Given the description of an element on the screen output the (x, y) to click on. 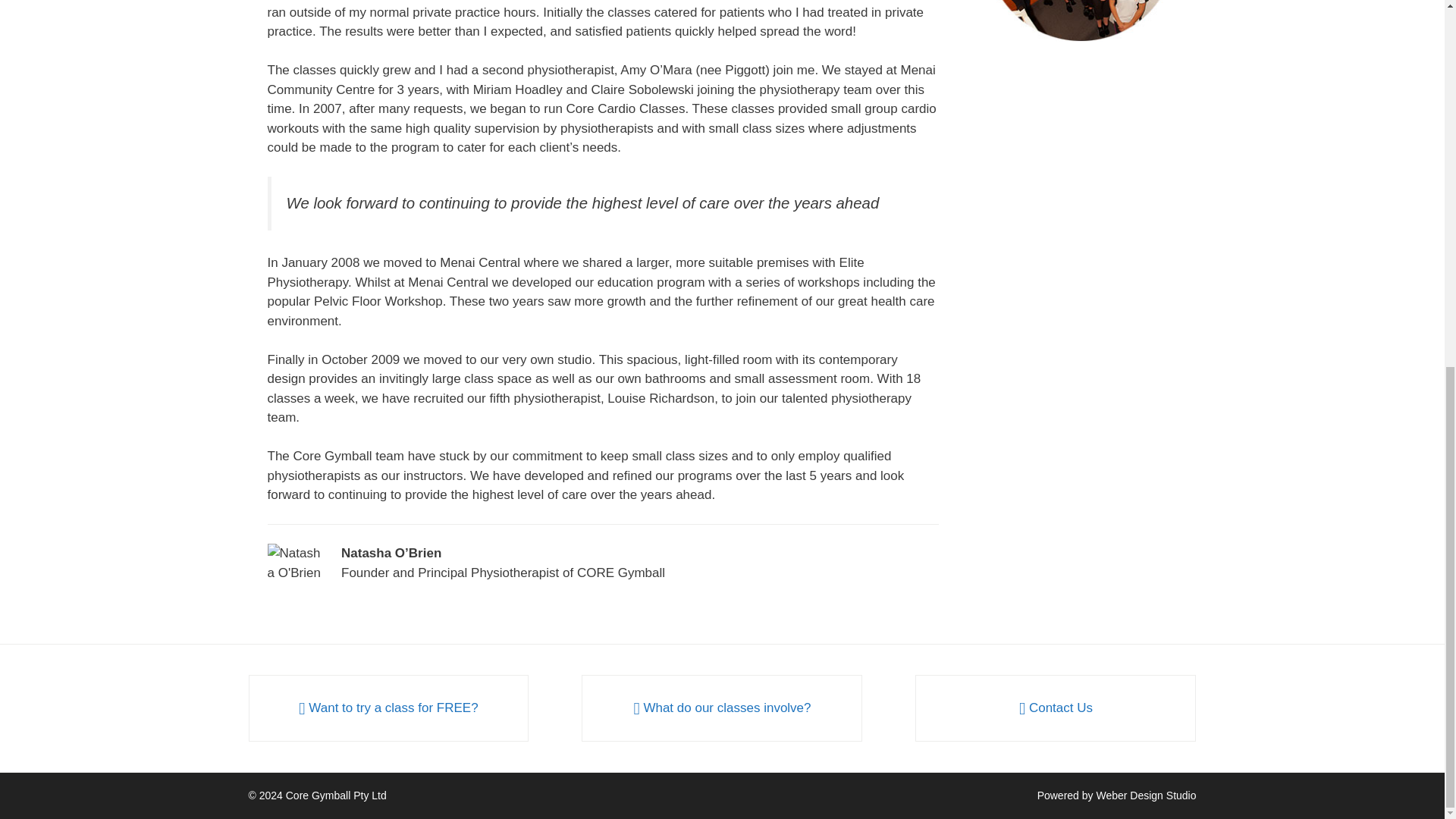
Weber Design Studio (1145, 795)
Want to try a class for FREE? (387, 708)
Contact Us (1055, 708)
What do our classes involve? (721, 708)
